Given the description of an element on the screen output the (x, y) to click on. 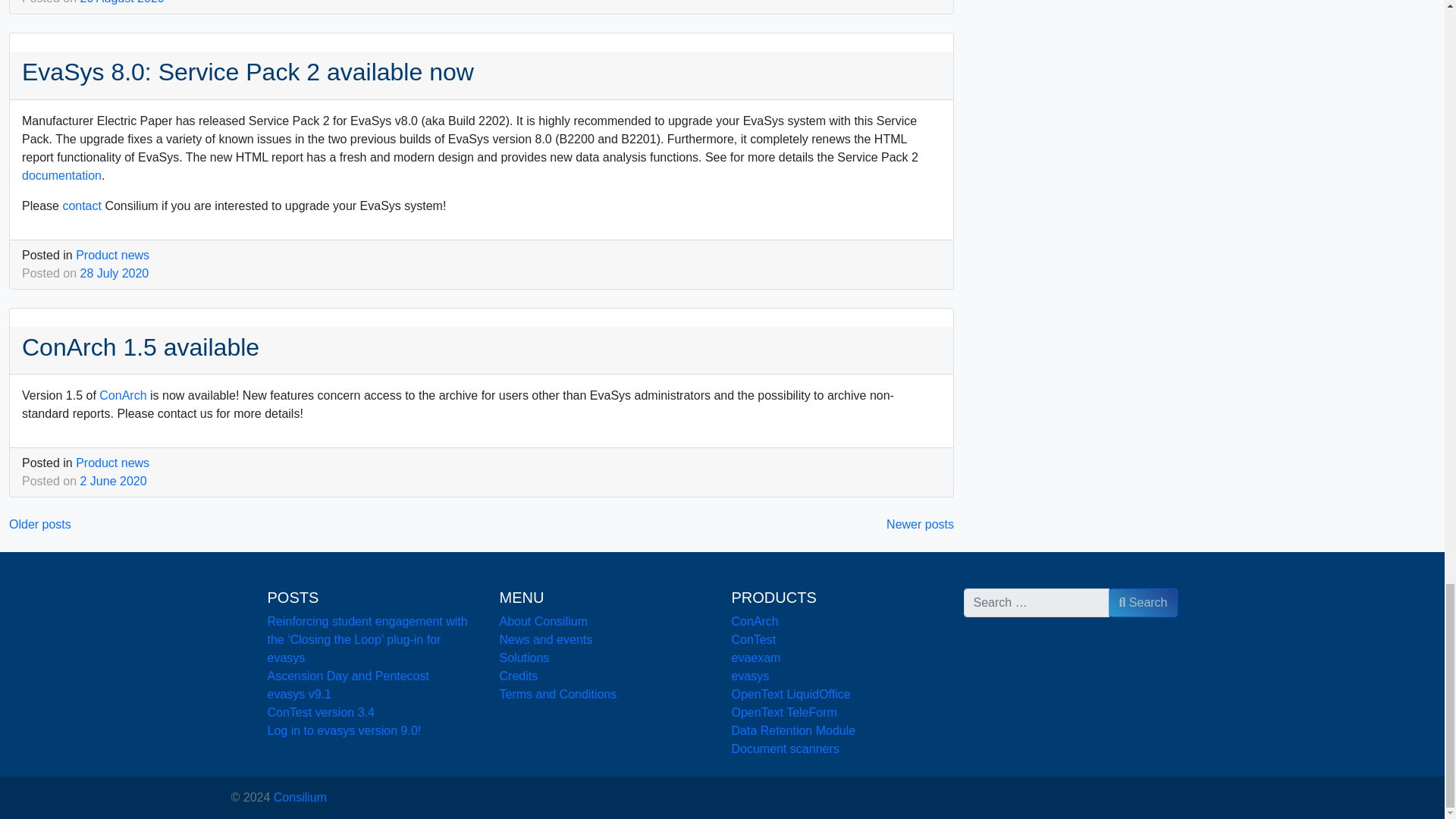
Search for: (1035, 602)
